Given the description of an element on the screen output the (x, y) to click on. 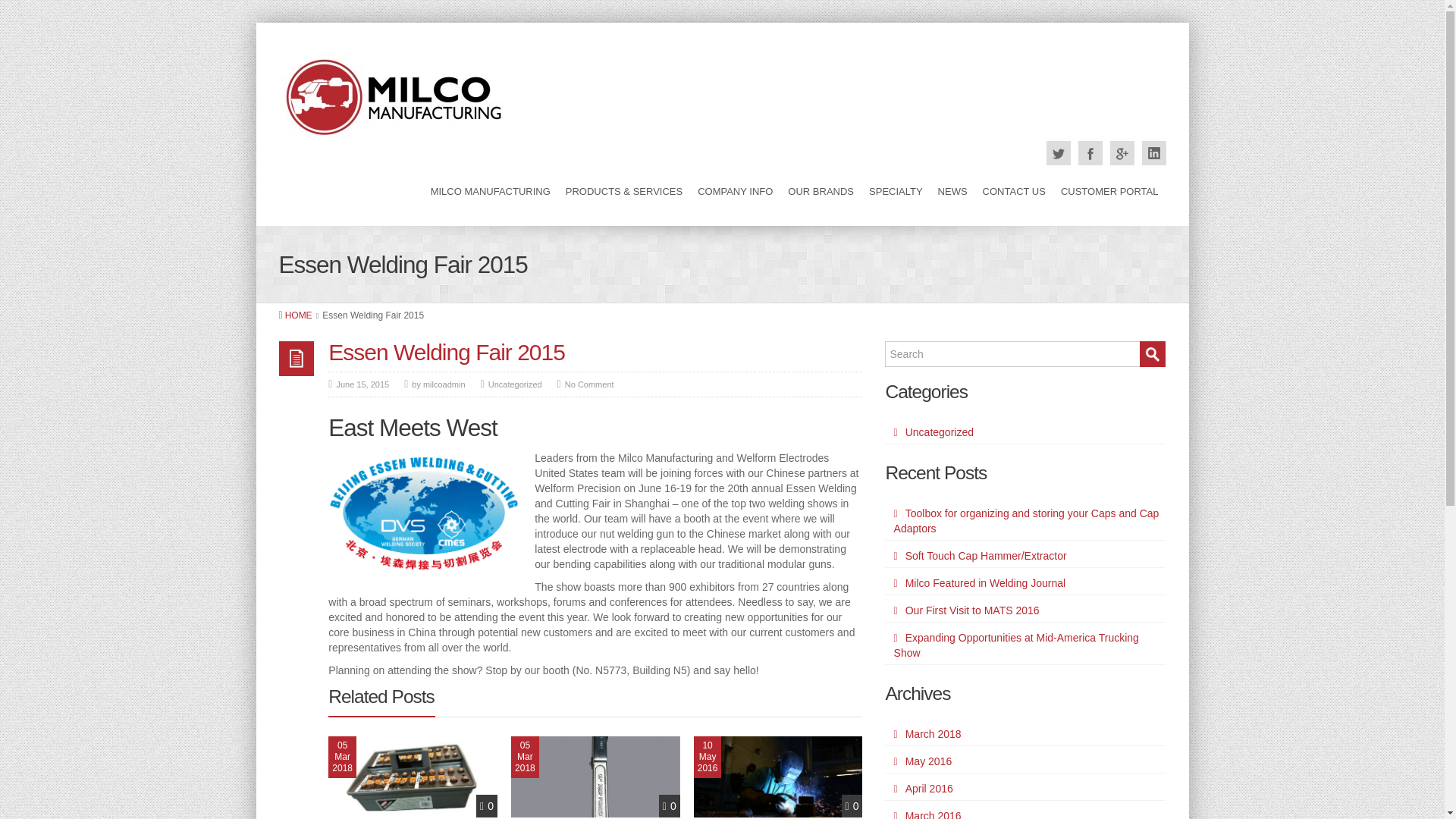
Linkedin (1153, 152)
CONTACT US (1013, 191)
CUSTOMER PORTAL (1109, 191)
Twitter (1058, 152)
0 (486, 806)
Essen Welding Fair 2015 (446, 351)
Uncategorized (514, 384)
HOME (299, 315)
MILCO MANUFACTURING (490, 191)
NEWS (952, 191)
COMPANY INFO (735, 191)
OUR BRANDS (820, 191)
View all posts in Uncategorized (514, 384)
SPECIALTY (896, 191)
Google Plus (1121, 152)
